Given the description of an element on the screen output the (x, y) to click on. 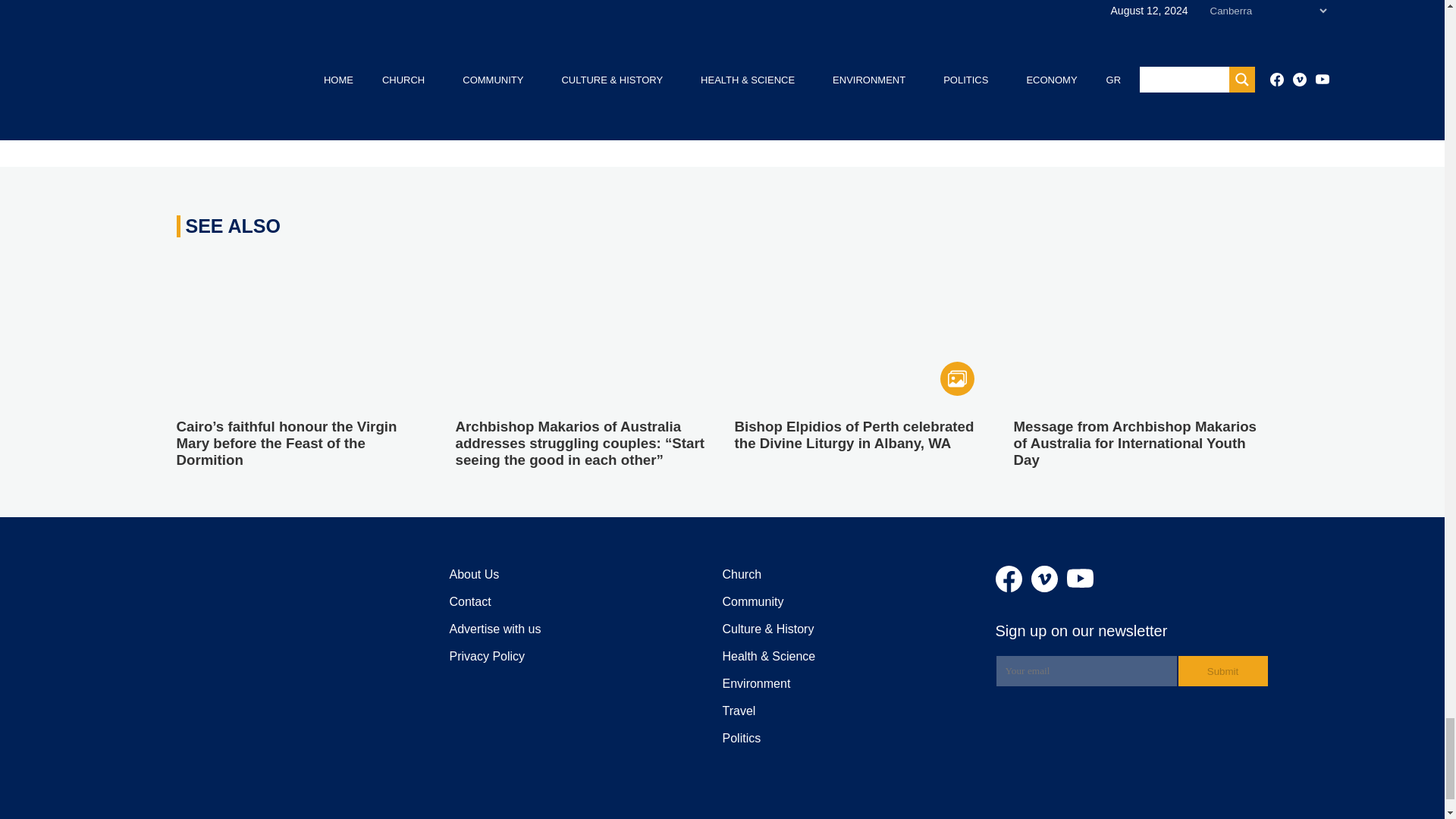
Linkedin (349, 103)
X (320, 103)
Email (409, 103)
Facebook (291, 103)
ST Spyridon (579, 20)
Copy Link (467, 103)
Whatsapp (439, 103)
